Given the description of an element on the screen output the (x, y) to click on. 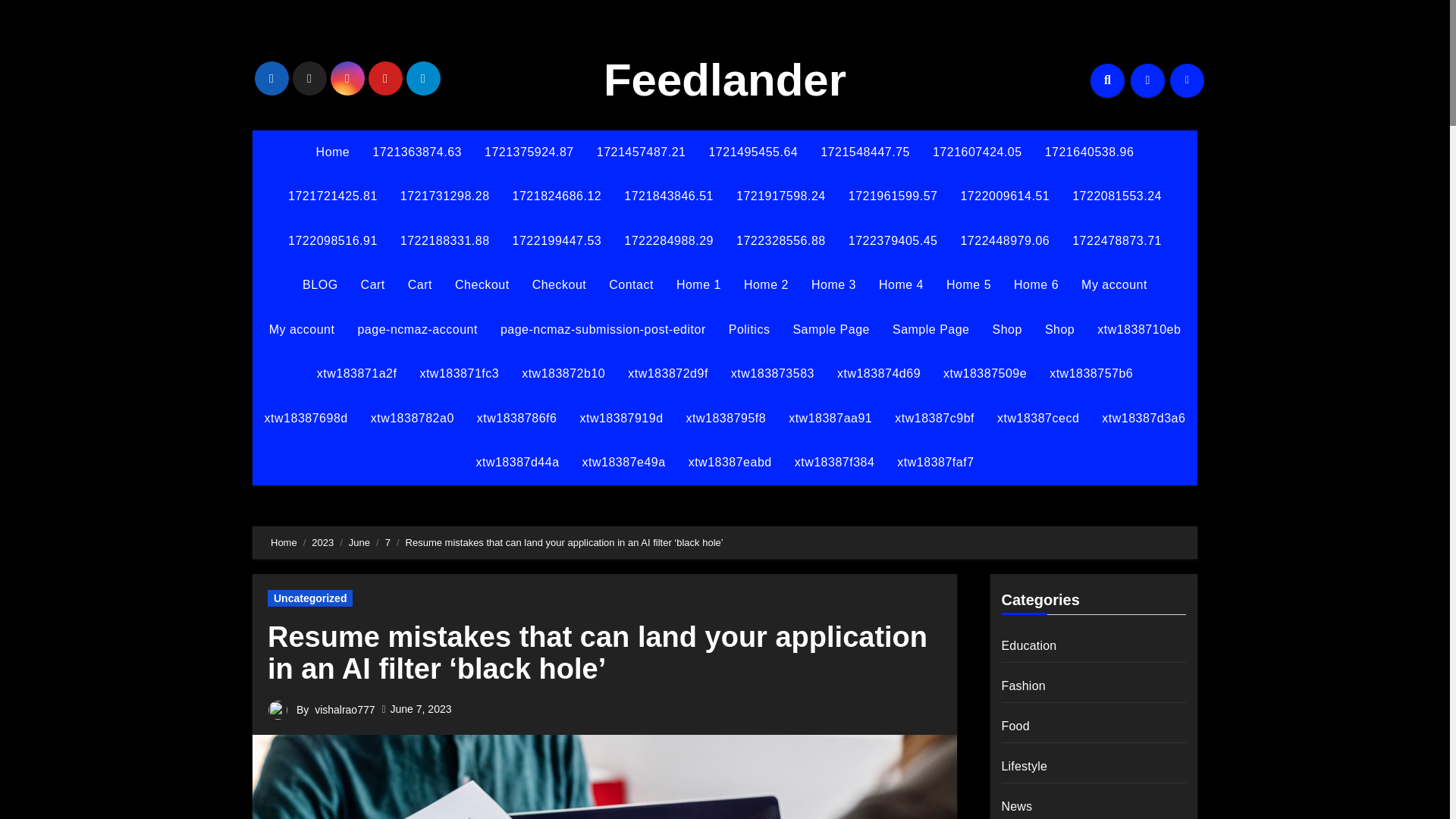
Cart (420, 284)
1721721425.81 (332, 196)
1722448979.06 (1005, 240)
BLOG (320, 284)
1721363874.63 (417, 152)
1722328556.88 (781, 240)
1721375924.87 (529, 152)
1722188331.88 (444, 240)
Checkout (482, 284)
1722009614.51 (1005, 196)
1721457487.21 (641, 152)
1722284988.29 (668, 240)
1721731298.28 (444, 196)
Home (332, 152)
1722199447.53 (556, 240)
